Given the description of an element on the screen output the (x, y) to click on. 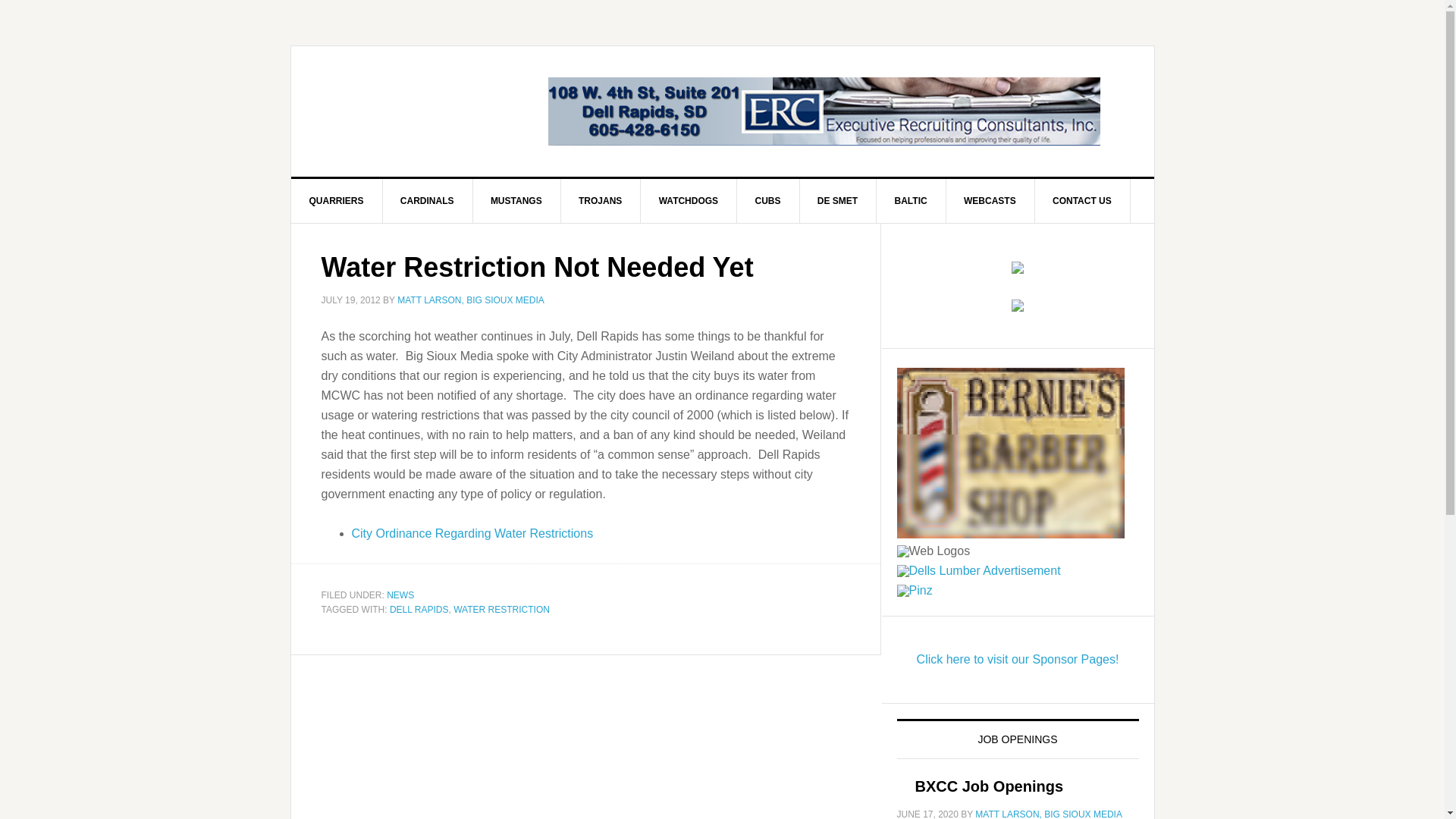
Dell Rapids City Ordinance Water Restriction (473, 532)
MATT LARSON, BIG SIOUX MEDIA (1048, 814)
WEBCASTS (989, 200)
DE SMET (837, 200)
DELL RAPIDS (419, 609)
CUBS (767, 200)
BALTIC (911, 200)
BXCC Job Openings (988, 786)
WATCHDOGS (688, 200)
Click here to visit our Sponsor Pages! (1018, 658)
